Given the description of an element on the screen output the (x, y) to click on. 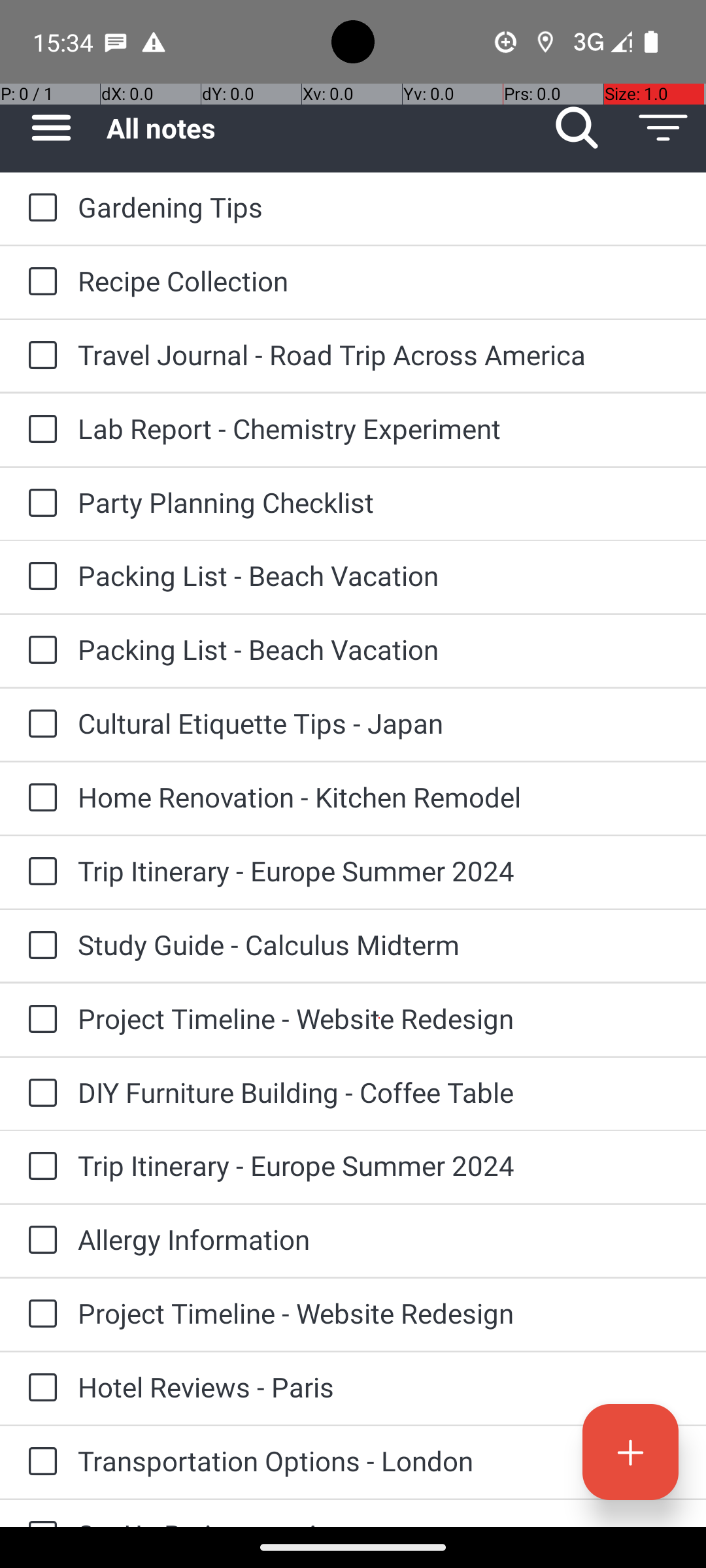
to-do: Gardening Tips Element type: android.widget.CheckBox (38, 208)
Gardening Tips Element type: android.widget.TextView (378, 206)
to-do: Recipe Collection Element type: android.widget.CheckBox (38, 282)
Recipe Collection Element type: android.widget.TextView (378, 280)
to-do: Travel Journal - Road Trip Across America Element type: android.widget.CheckBox (38, 356)
Travel Journal - Road Trip Across America Element type: android.widget.TextView (378, 354)
to-do: Lab Report - Chemistry Experiment Element type: android.widget.CheckBox (38, 429)
Lab Report - Chemistry Experiment Element type: android.widget.TextView (378, 427)
to-do: Party Planning Checklist Element type: android.widget.CheckBox (38, 503)
Party Planning Checklist Element type: android.widget.TextView (378, 501)
to-do: Packing List - Beach Vacation Element type: android.widget.CheckBox (38, 576)
Packing List - Beach Vacation Element type: android.widget.TextView (378, 574)
to-do: Cultural Etiquette Tips - Japan Element type: android.widget.CheckBox (38, 724)
Cultural Etiquette Tips - Japan Element type: android.widget.TextView (378, 722)
to-do: Home Renovation - Kitchen Remodel Element type: android.widget.CheckBox (38, 798)
Home Renovation - Kitchen Remodel Element type: android.widget.TextView (378, 796)
to-do: Trip Itinerary - Europe Summer 2024 Element type: android.widget.CheckBox (38, 872)
Trip Itinerary - Europe Summer 2024 Element type: android.widget.TextView (378, 870)
to-do: Study Guide - Calculus Midterm Element type: android.widget.CheckBox (38, 945)
Study Guide - Calculus Midterm Element type: android.widget.TextView (378, 944)
to-do: Project Timeline - Website Redesign Element type: android.widget.CheckBox (38, 1019)
Project Timeline - Website Redesign Element type: android.widget.TextView (378, 1017)
to-do: DIY Furniture Building - Coffee Table Element type: android.widget.CheckBox (38, 1093)
DIY Furniture Building - Coffee Table Element type: android.widget.TextView (378, 1091)
to-do: Allergy Information Element type: android.widget.CheckBox (38, 1240)
Allergy Information Element type: android.widget.TextView (378, 1238)
to-do: Hotel Reviews - Paris Element type: android.widget.CheckBox (38, 1388)
Hotel Reviews - Paris Element type: android.widget.TextView (378, 1386)
to-do: Transportation Options - London Element type: android.widget.CheckBox (38, 1462)
Transportation Options - London Element type: android.widget.TextView (378, 1460)
to-do: Set Up Retirement Account Element type: android.widget.CheckBox (38, 1513)
Set Up Retirement Account Element type: android.widget.TextView (378, 1520)
